Given the description of an element on the screen output the (x, y) to click on. 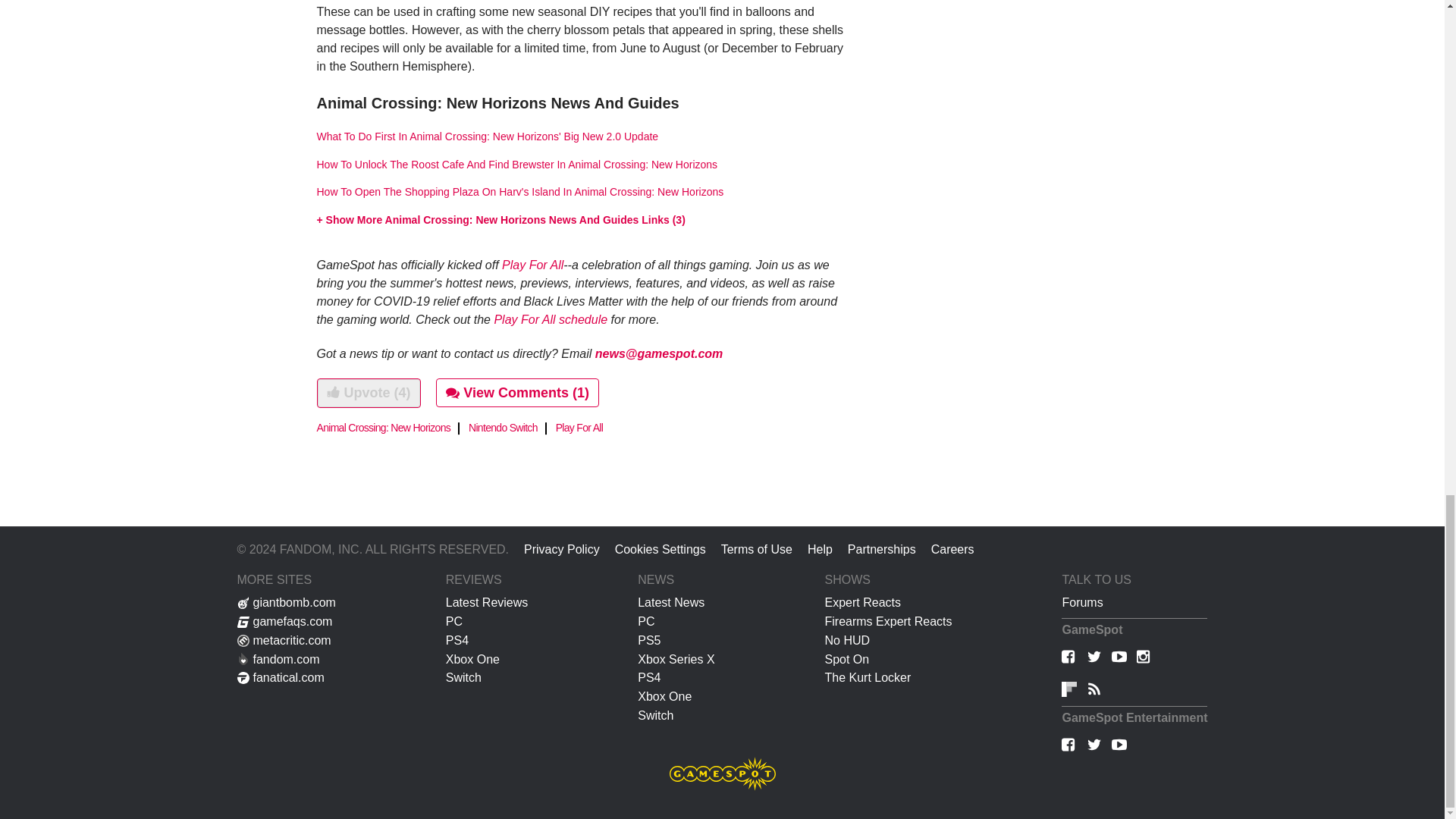
RSS Feeds (1094, 690)
